Given the description of an element on the screen output the (x, y) to click on. 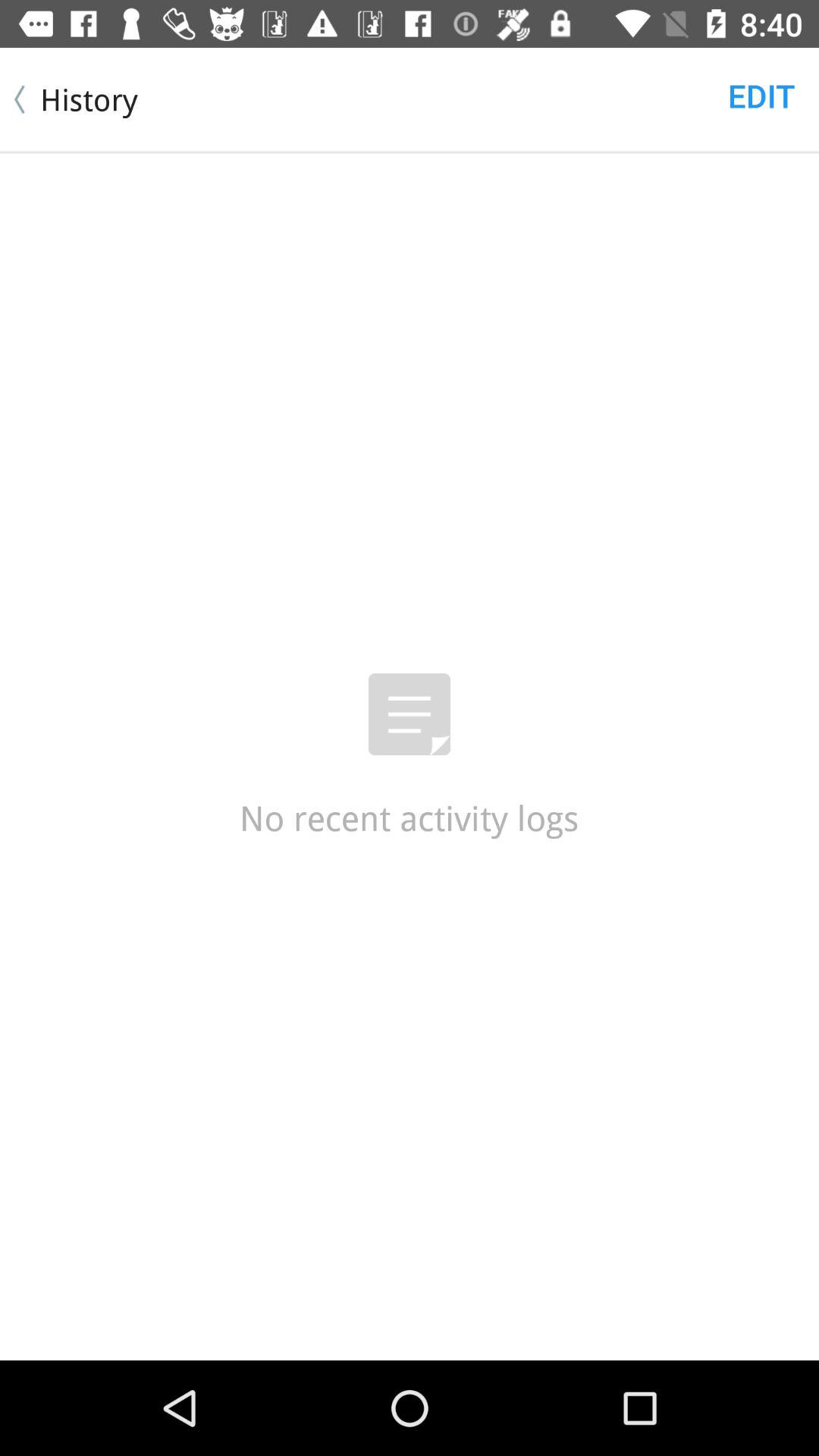
press the item next to history icon (761, 95)
